Given the description of an element on the screen output the (x, y) to click on. 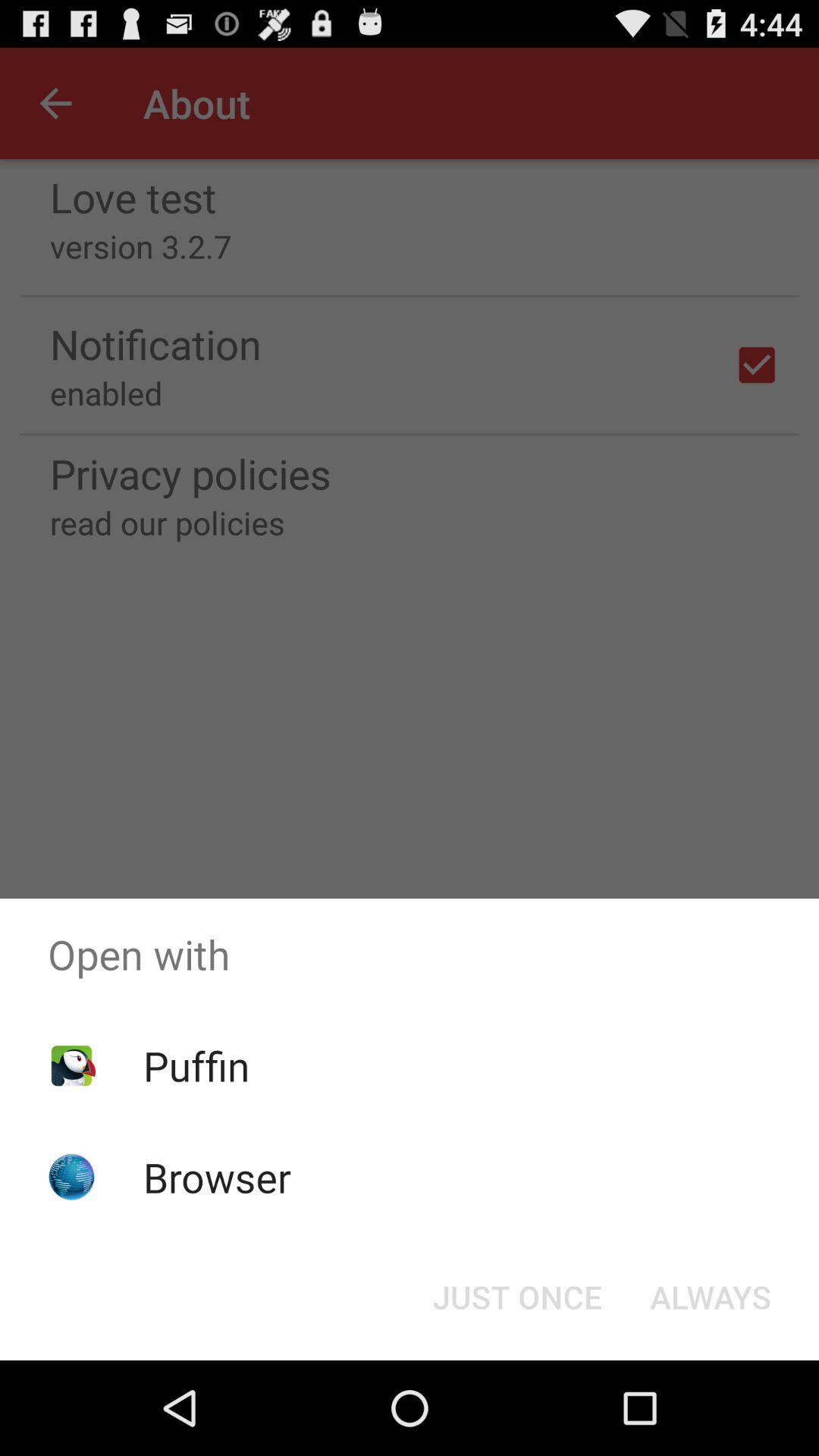
launch browser item (217, 1176)
